Given the description of an element on the screen output the (x, y) to click on. 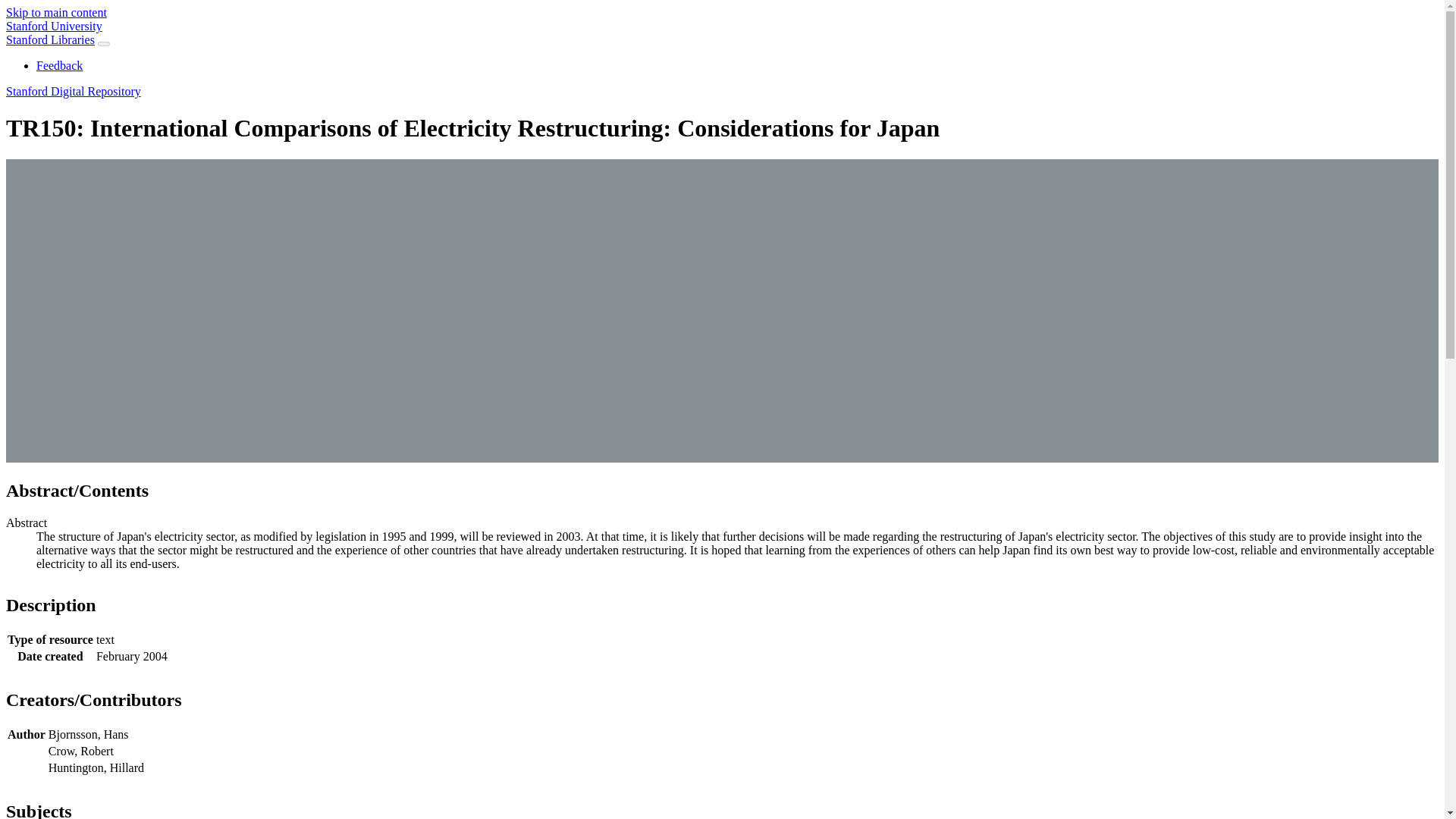
Feedback (59, 65)
Skip to main content (55, 11)
Stanford University (53, 25)
Stanford Digital Repository (73, 91)
Stanford Libraries (49, 39)
